Given the description of an element on the screen output the (x, y) to click on. 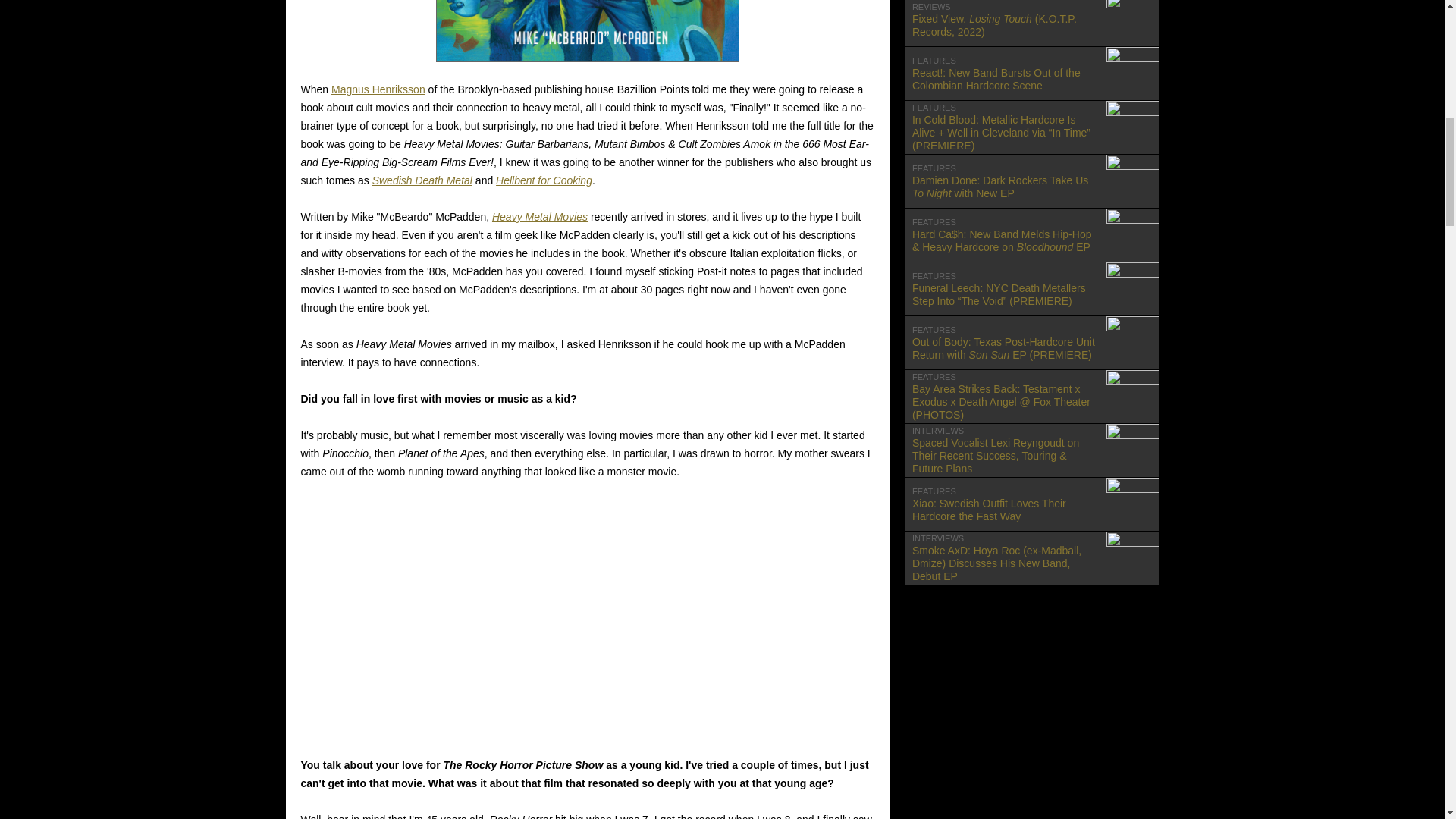
Heavy Metal Movies (540, 216)
Magnus Henriksson (378, 89)
Swedish Death Metal (421, 180)
Hellbent for Cooking (544, 180)
